Given the description of an element on the screen output the (x, y) to click on. 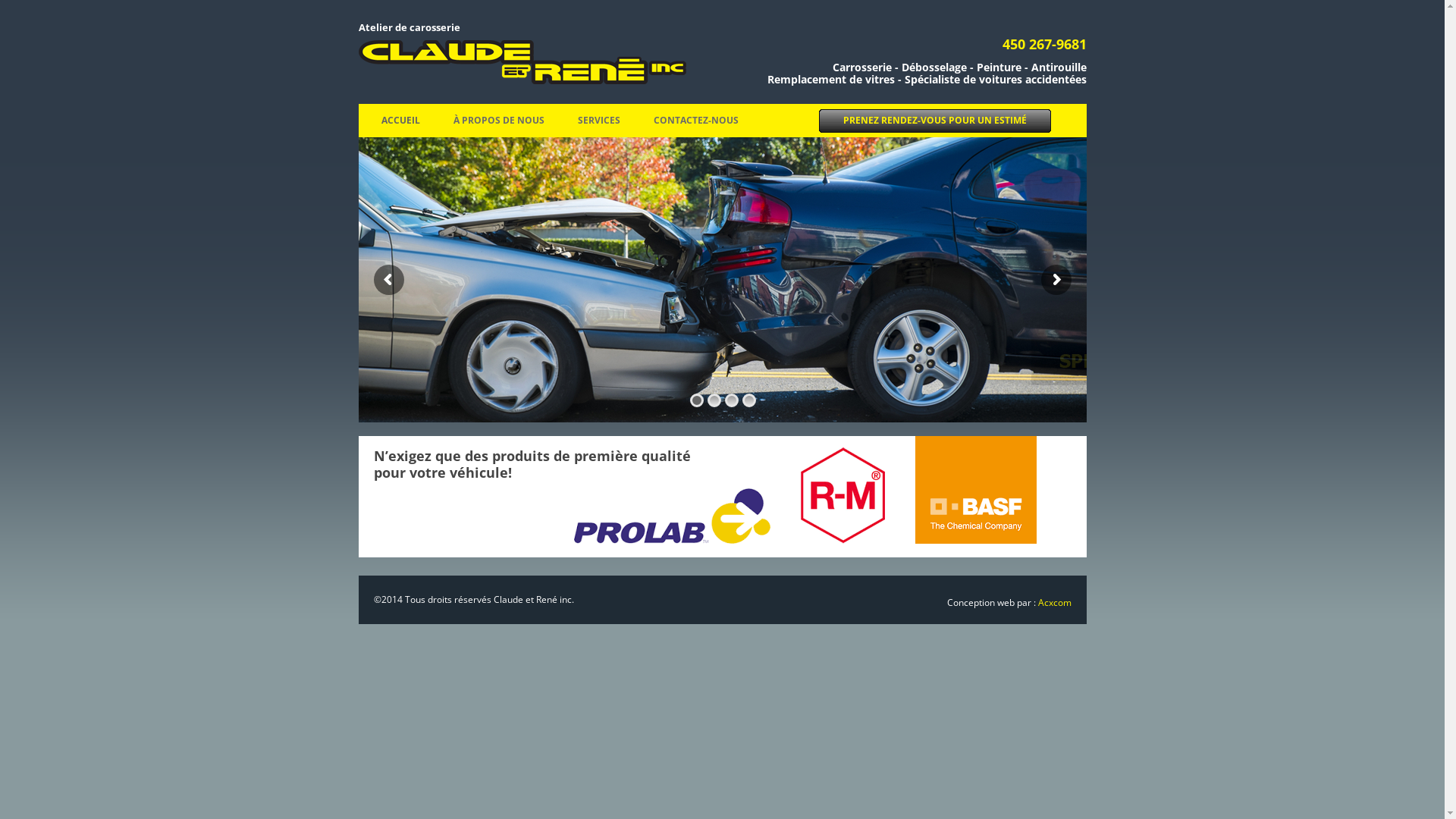
SERVICES Element type: text (598, 120)
Acxcom Element type: text (1053, 602)
VOUS AVEZ EU UN ACCIDENT? Element type: text (653, 152)
CONTACTEZ-NOUS Element type: text (695, 120)
Aller au contenu Element type: text (721, 103)
ACCUEIL Element type: text (399, 120)
